Given the description of an element on the screen output the (x, y) to click on. 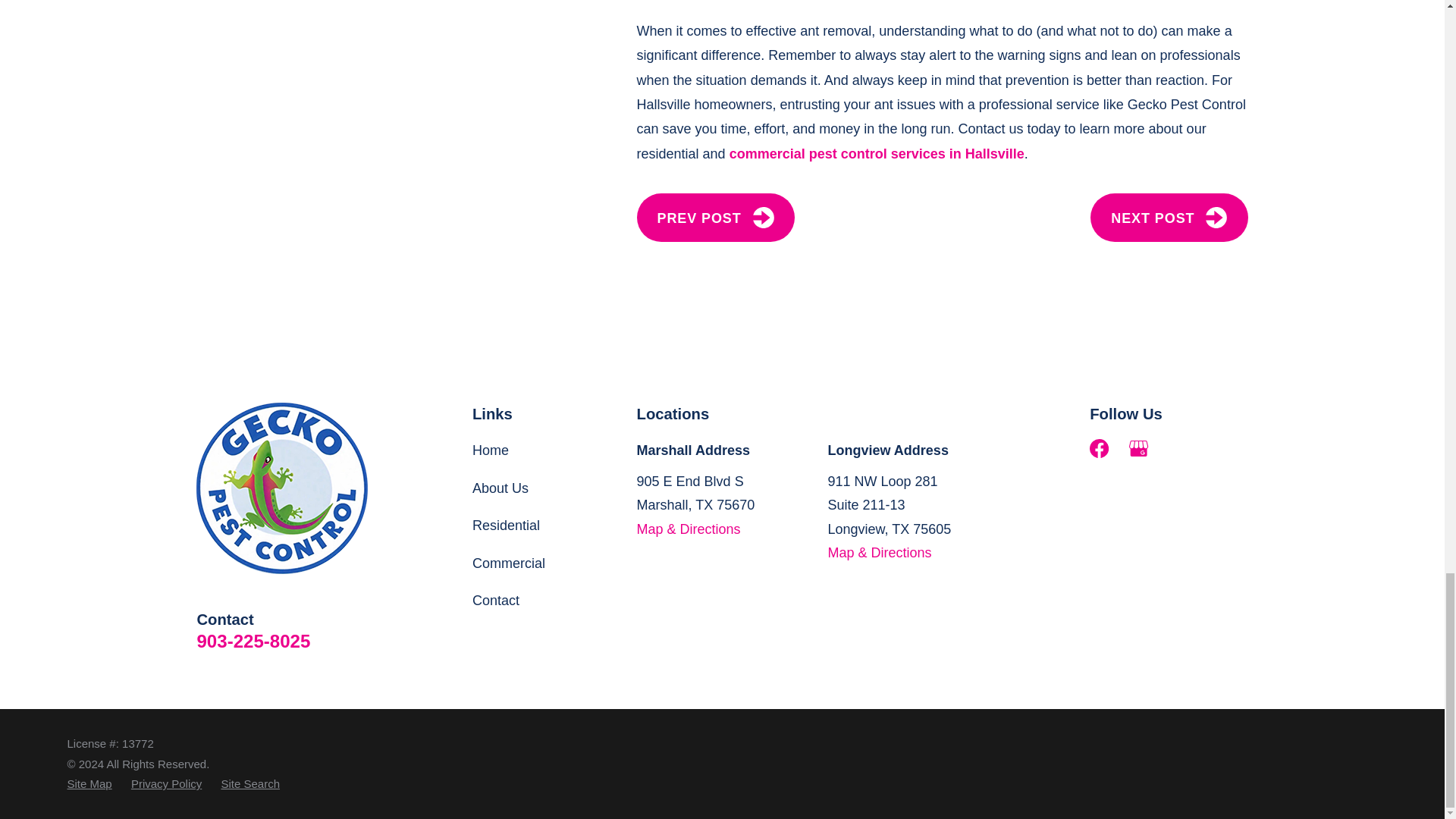
LinkedIn (1178, 447)
Google Business Profile (1138, 447)
Facebook (1098, 447)
Home (282, 488)
